Given the description of an element on the screen output the (x, y) to click on. 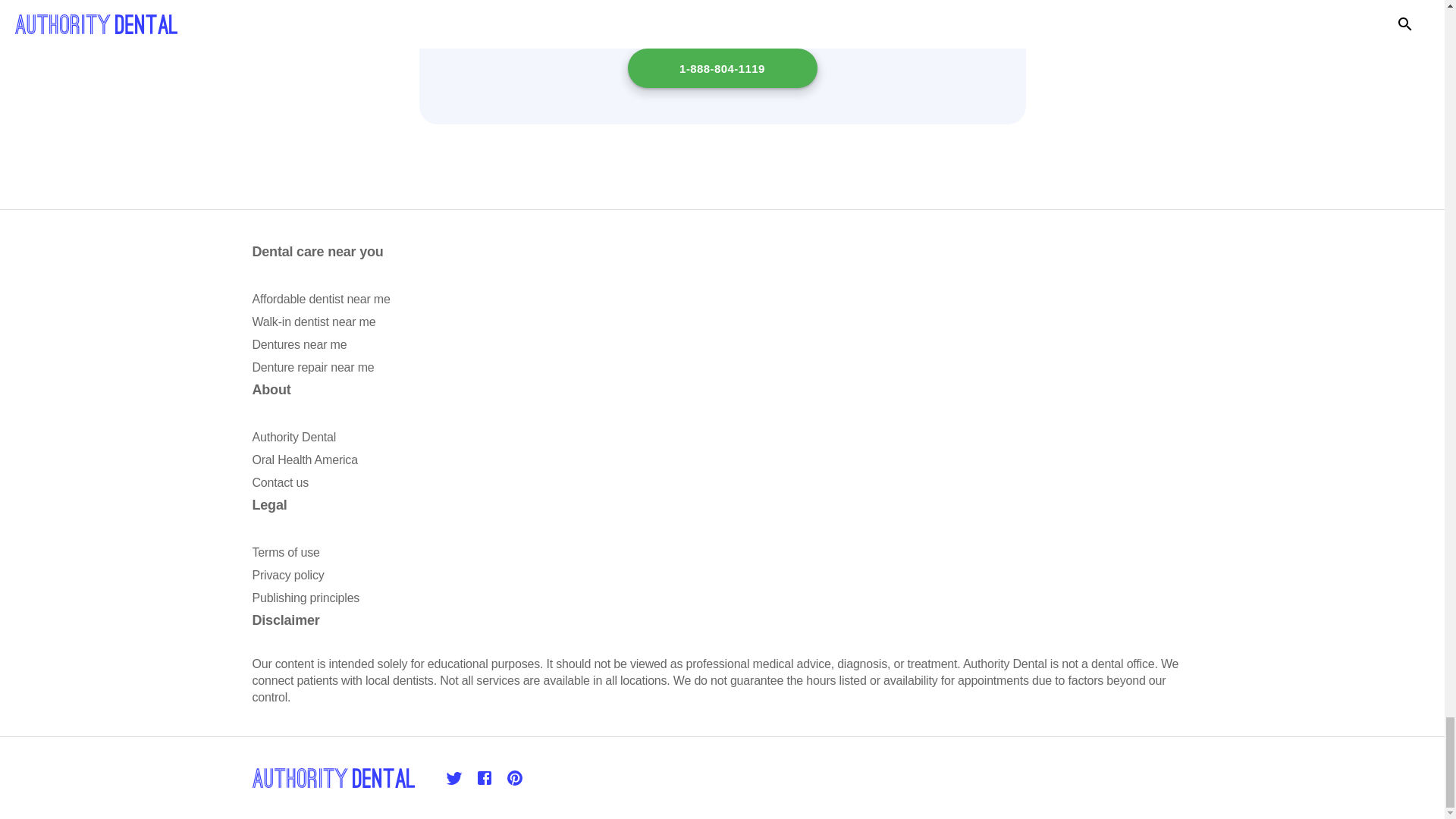
Publishing principles (305, 597)
Affordable dentist near me (320, 298)
Dentures near me (298, 344)
Authority Dental (293, 436)
1-888-804-1119 (721, 67)
Terms of use (284, 552)
Walk-in dentist near me (313, 321)
Oral Health America (303, 459)
Denture repair near me (312, 367)
Contact us (279, 481)
Privacy policy (287, 574)
